Given the description of an element on the screen output the (x, y) to click on. 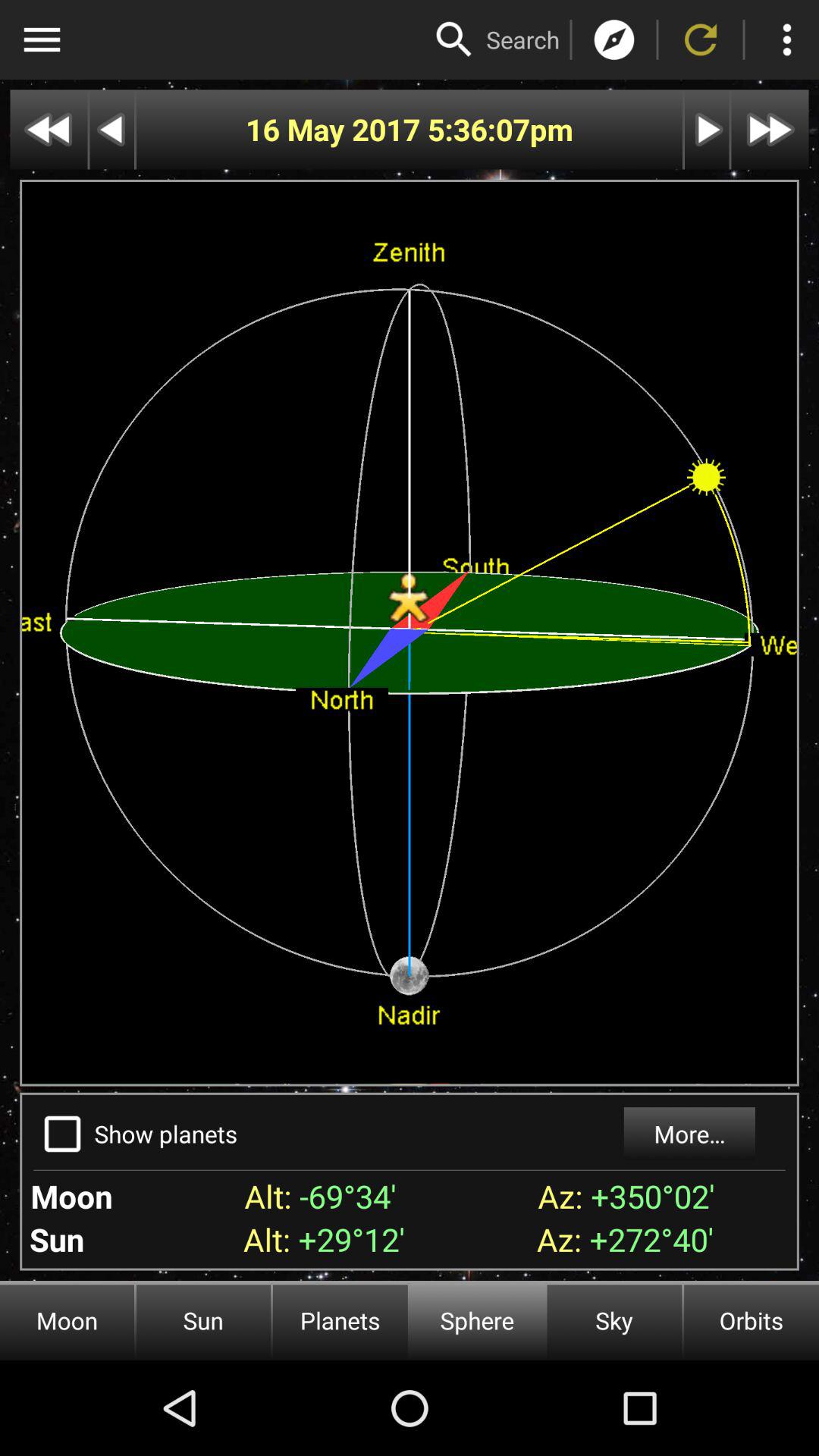
flip until the 5:36:07 (478, 129)
